Given the description of an element on the screen output the (x, y) to click on. 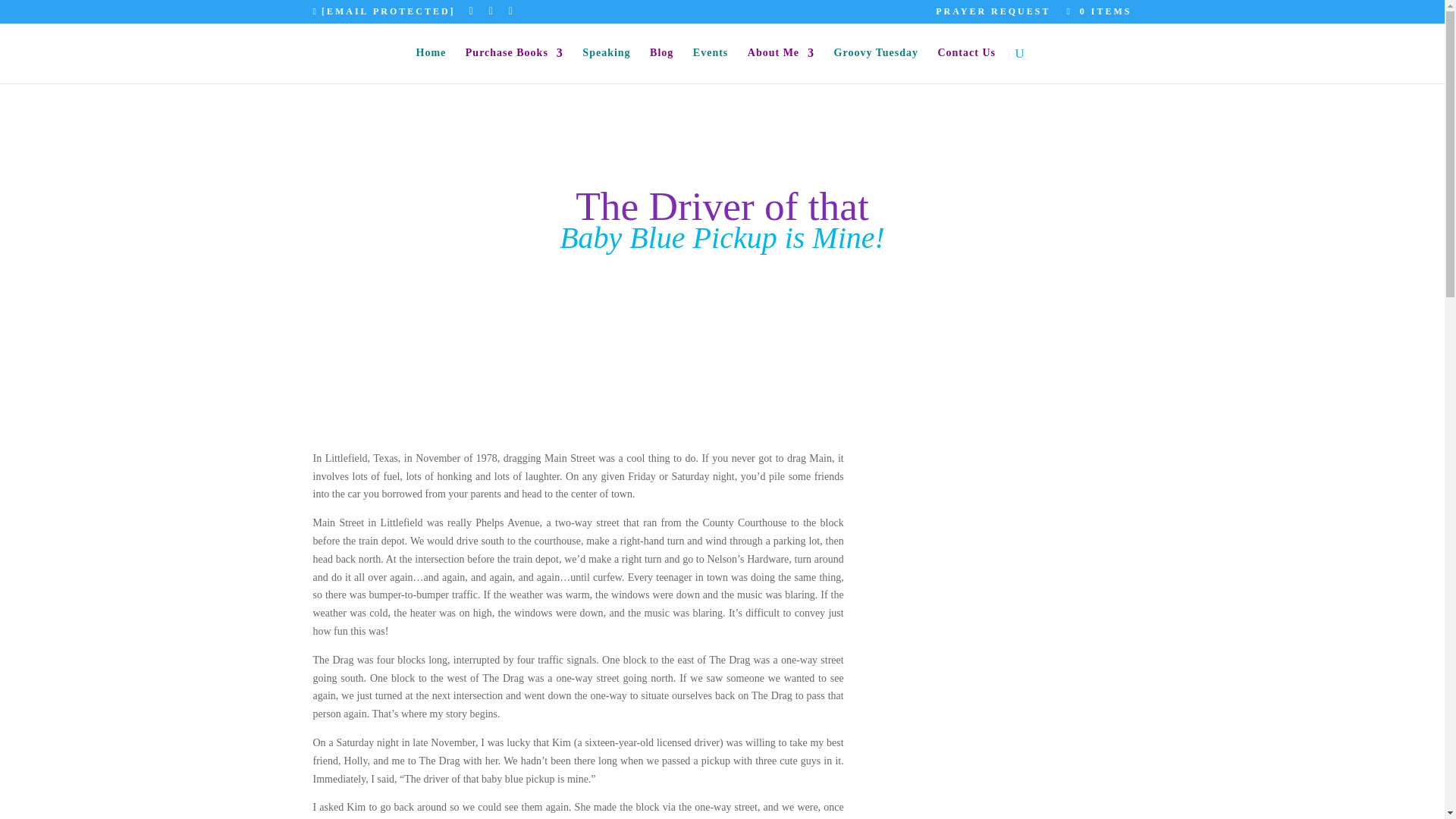
0 ITEMS (1096, 10)
PRAYER REQUEST (992, 14)
About Me (780, 65)
Purchase Books (514, 65)
Speaking (606, 65)
Contact Us (966, 65)
Events (710, 65)
Groovy Tuesday (876, 65)
